Given the description of an element on the screen output the (x, y) to click on. 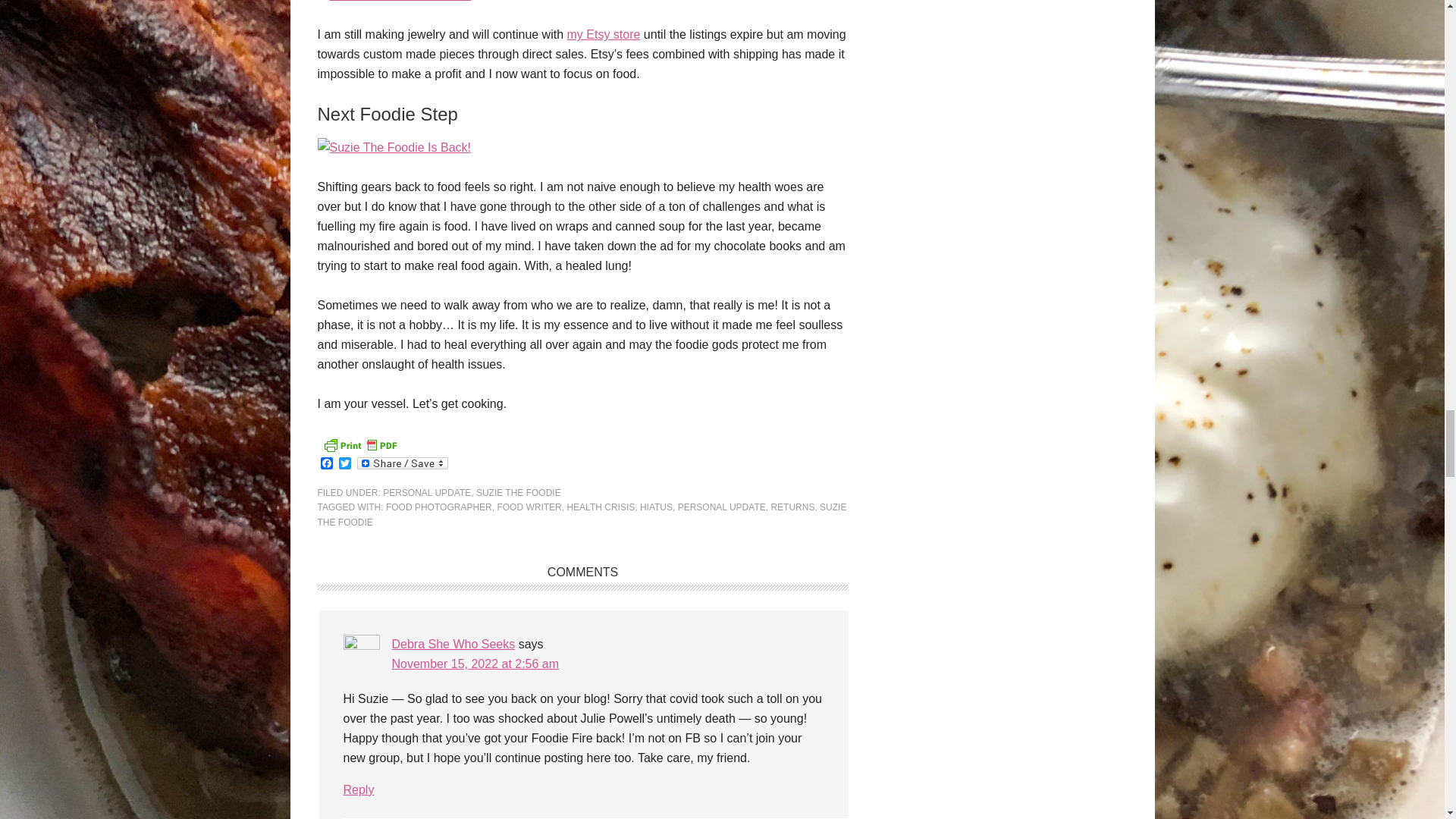
Twitter (343, 464)
my Etsy store (603, 33)
Facebook (325, 464)
